Given the description of an element on the screen output the (x, y) to click on. 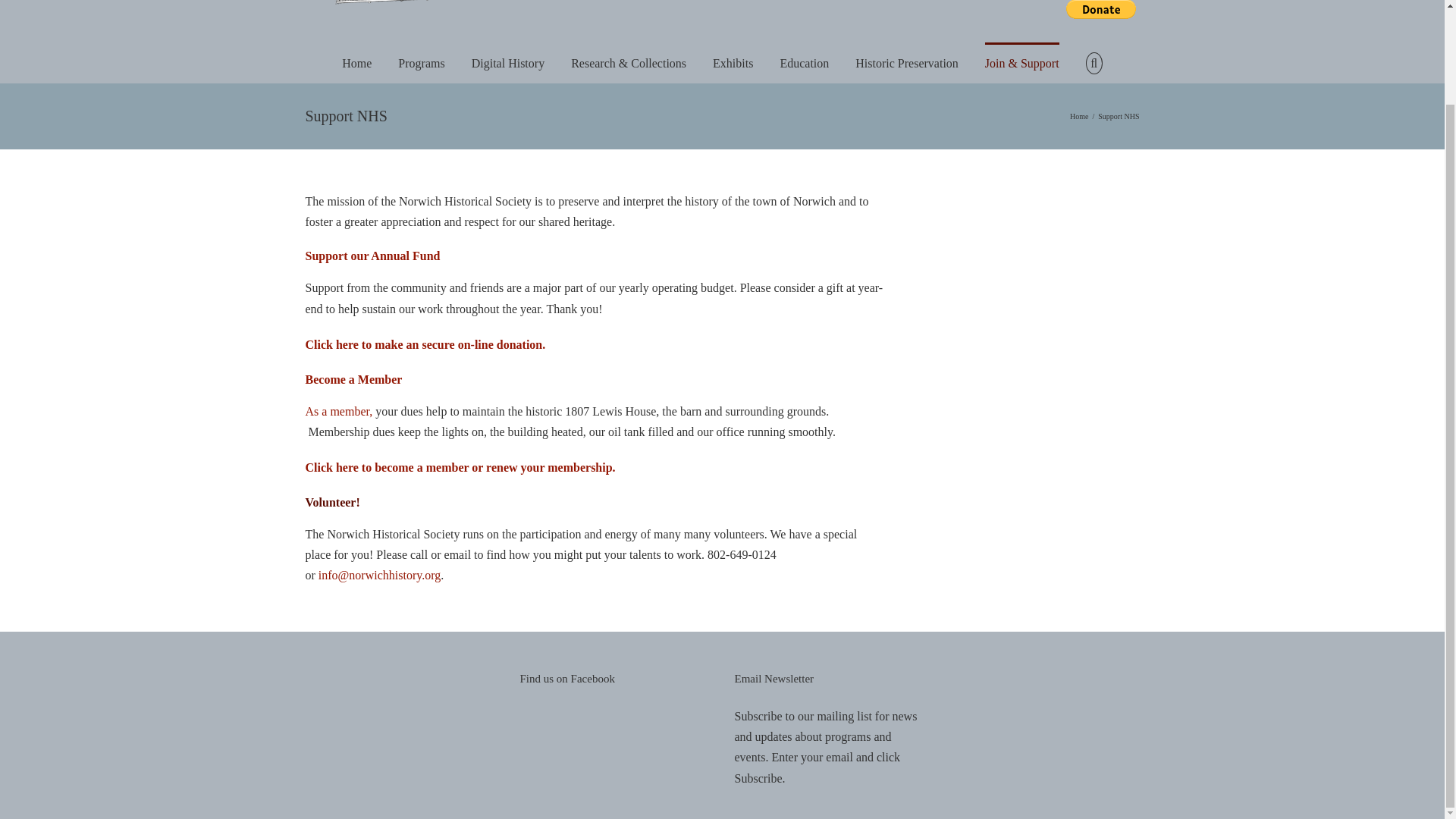
PayPal - The safer, easier way to pay online! (1100, 9)
Education (803, 62)
Programs (420, 62)
Exhibits (732, 62)
Digital History (507, 62)
